Given the description of an element on the screen output the (x, y) to click on. 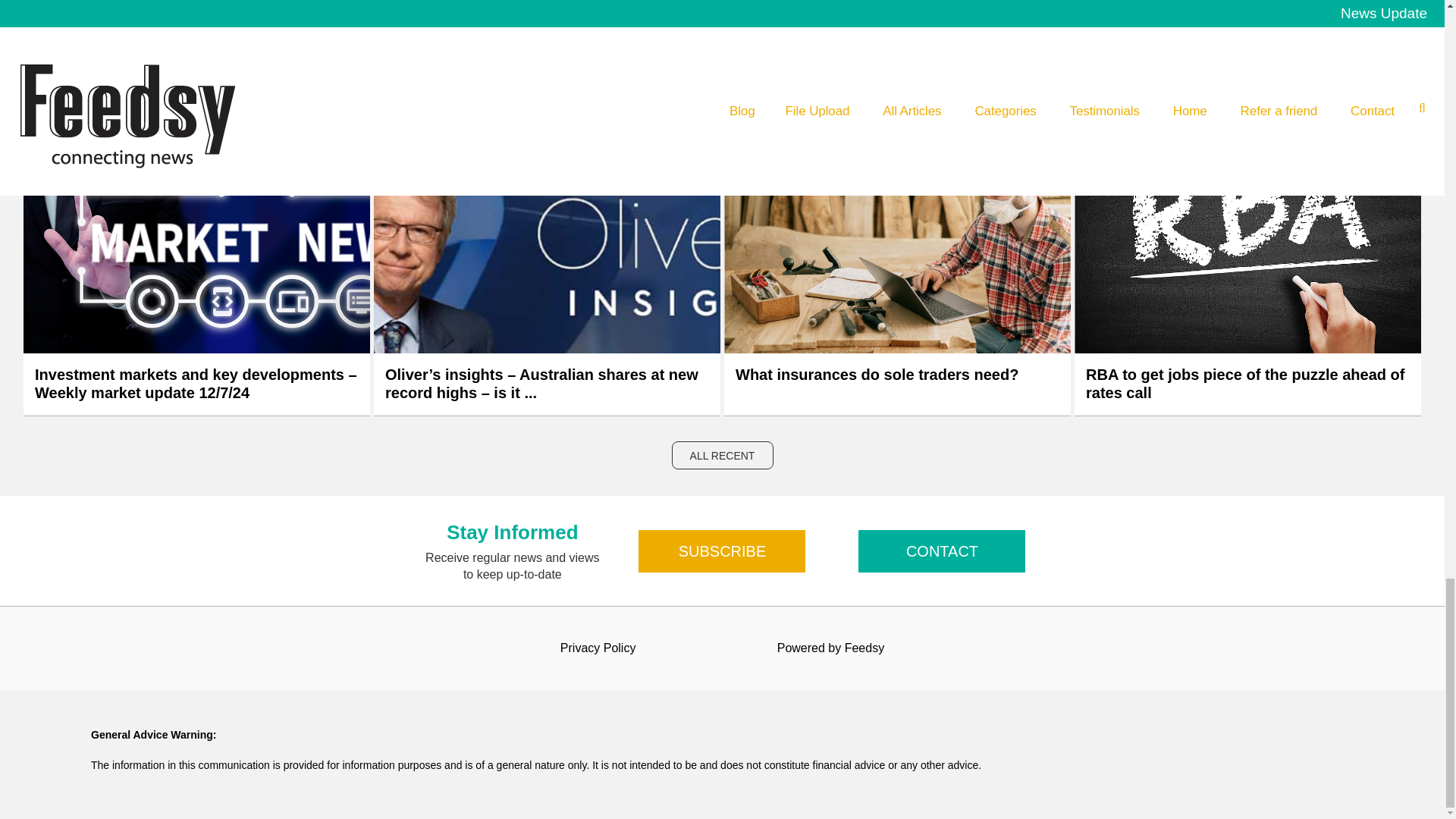
PREV (686, 12)
NEXT (759, 12)
